Given the description of an element on the screen output the (x, y) to click on. 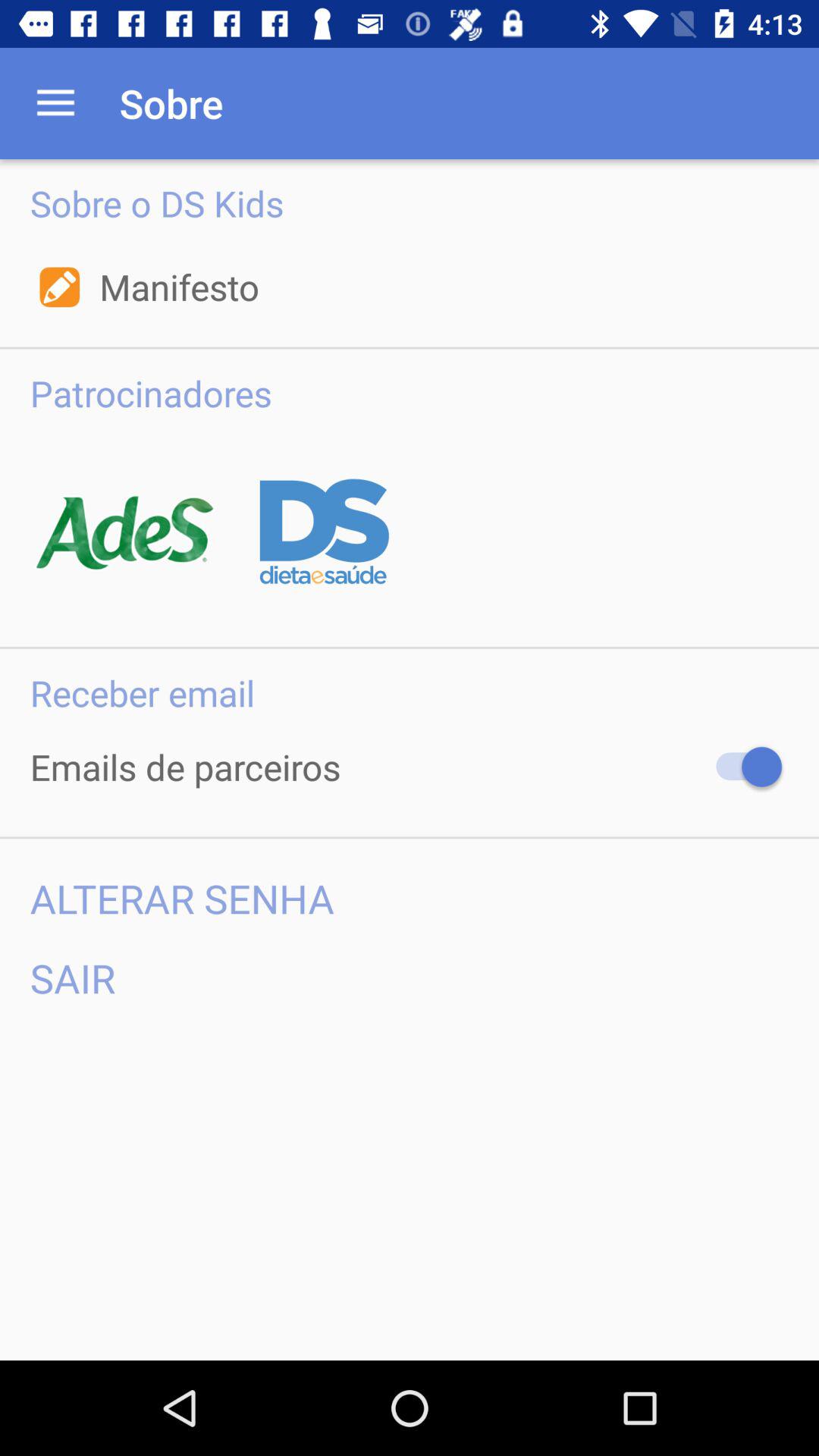
toggle receber emails de parceiros (741, 766)
